Given the description of an element on the screen output the (x, y) to click on. 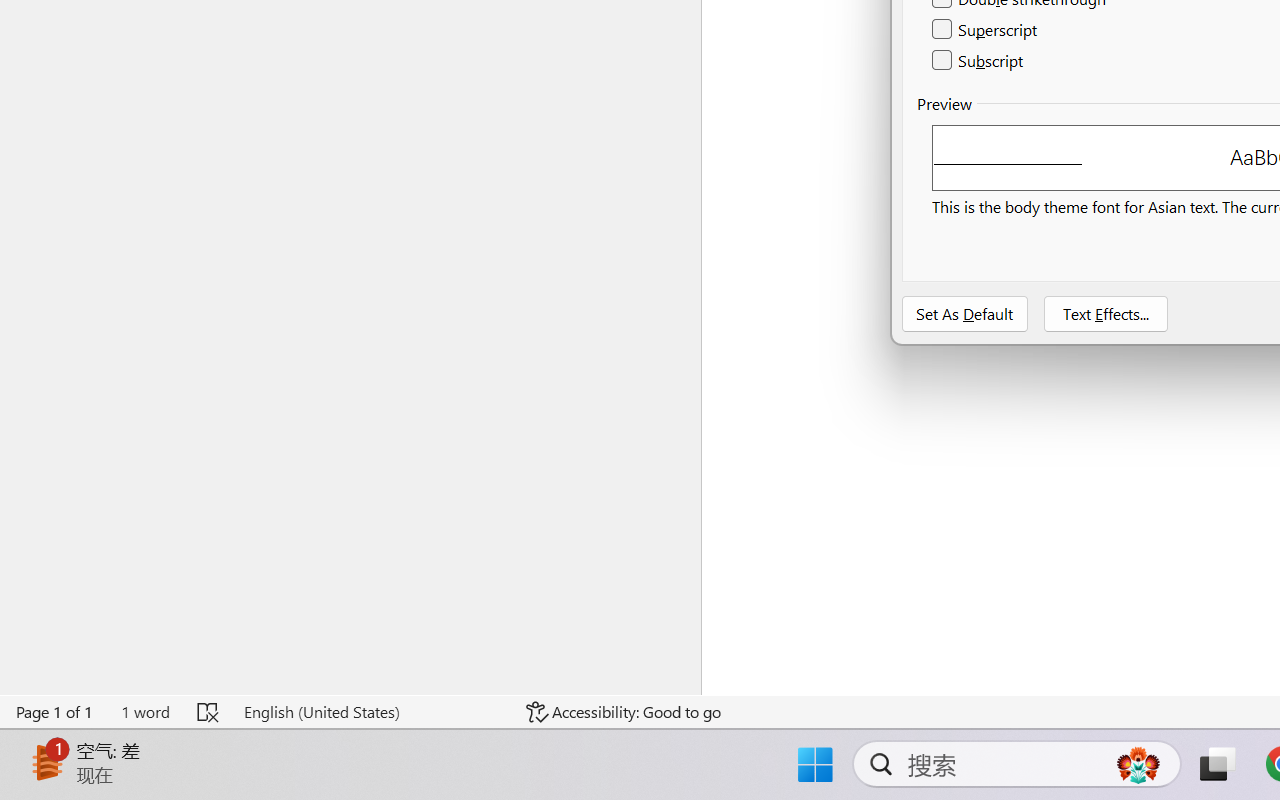
Spelling and Grammar Check Errors (208, 712)
Superscript (985, 29)
Set As Default (965, 313)
Subscript (978, 60)
Text Effects... (1105, 313)
